Given the description of an element on the screen output the (x, y) to click on. 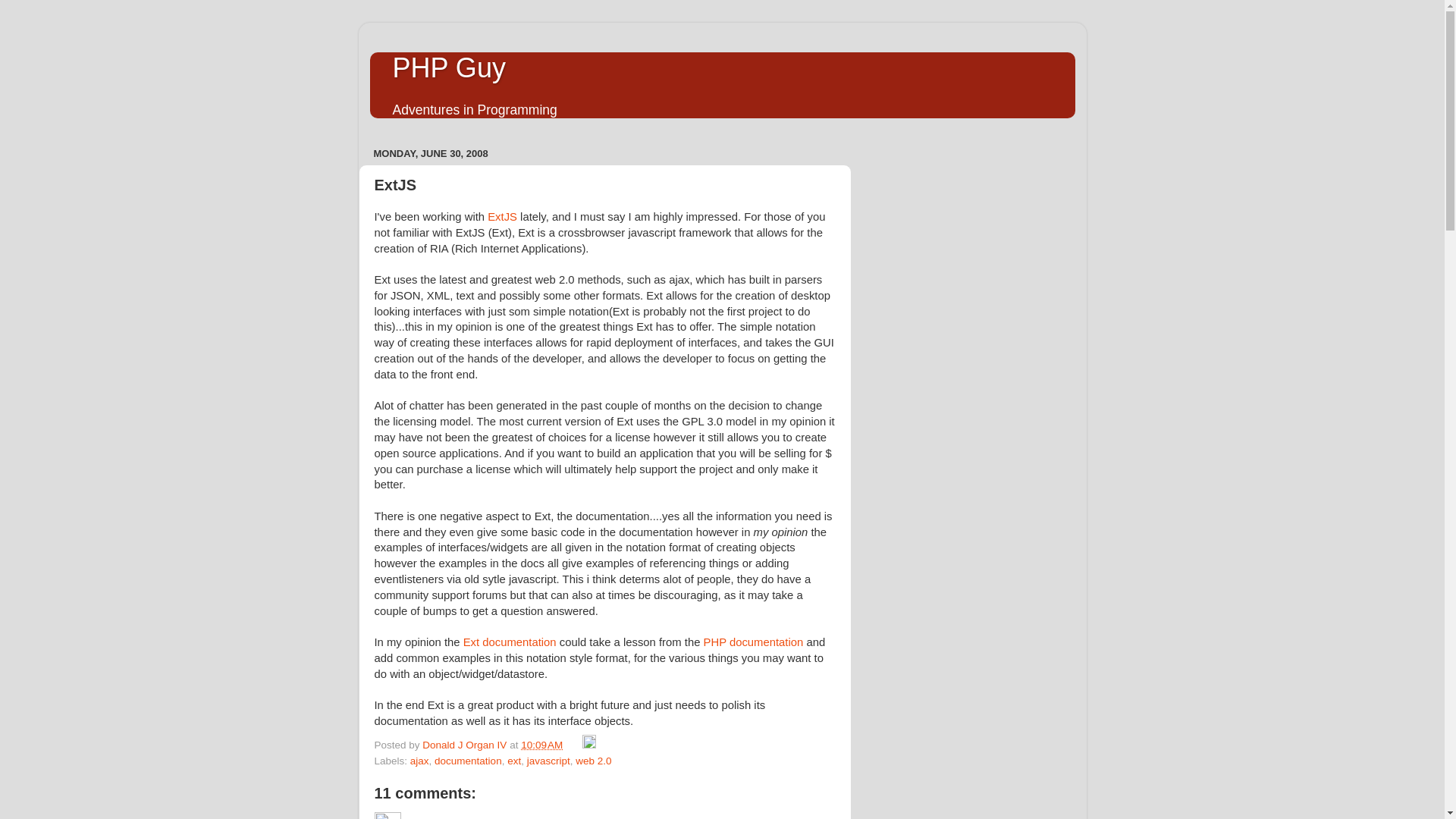
PHP documentation (753, 642)
ExtJS (501, 216)
Ext documentation (509, 642)
javascript (548, 760)
web 2.0 (593, 760)
PHP Guy (449, 67)
ext (513, 760)
Donald J Organ IV (465, 745)
ajax (419, 760)
Email Post (574, 745)
documentation (467, 760)
Edit Post (588, 745)
Anonymous (387, 815)
permanent link (541, 745)
